Given the description of an element on the screen output the (x, y) to click on. 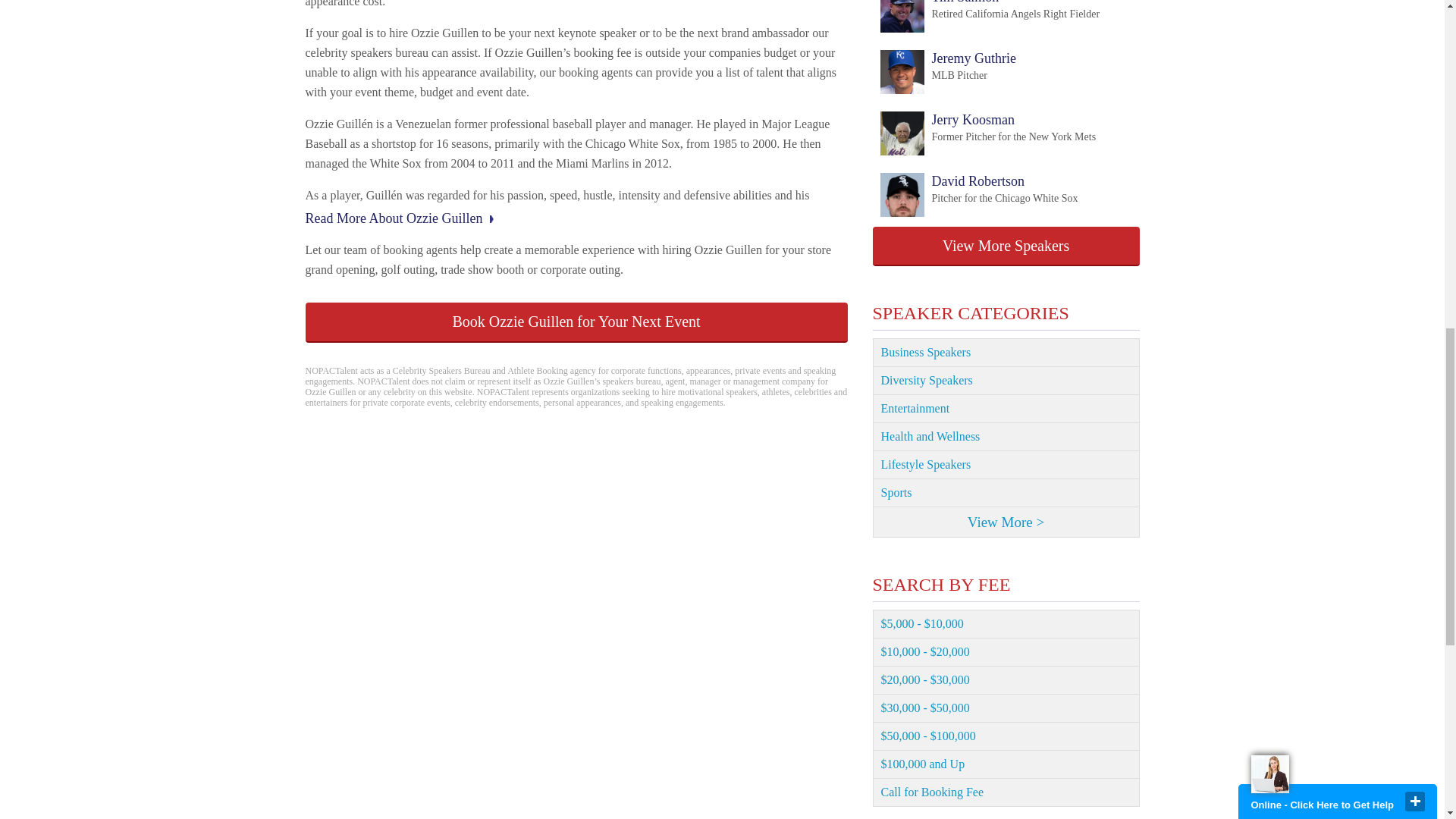
Book Ozzie Guillen for Your Next Event (946, 72)
Entertainment (575, 322)
Business Speakers (1005, 408)
Diversity Speakers (1005, 352)
Sports (1005, 380)
View More Speakers (989, 17)
Health and Wellness (1005, 492)
Lifestyle Speakers (978, 195)
